Given the description of an element on the screen output the (x, y) to click on. 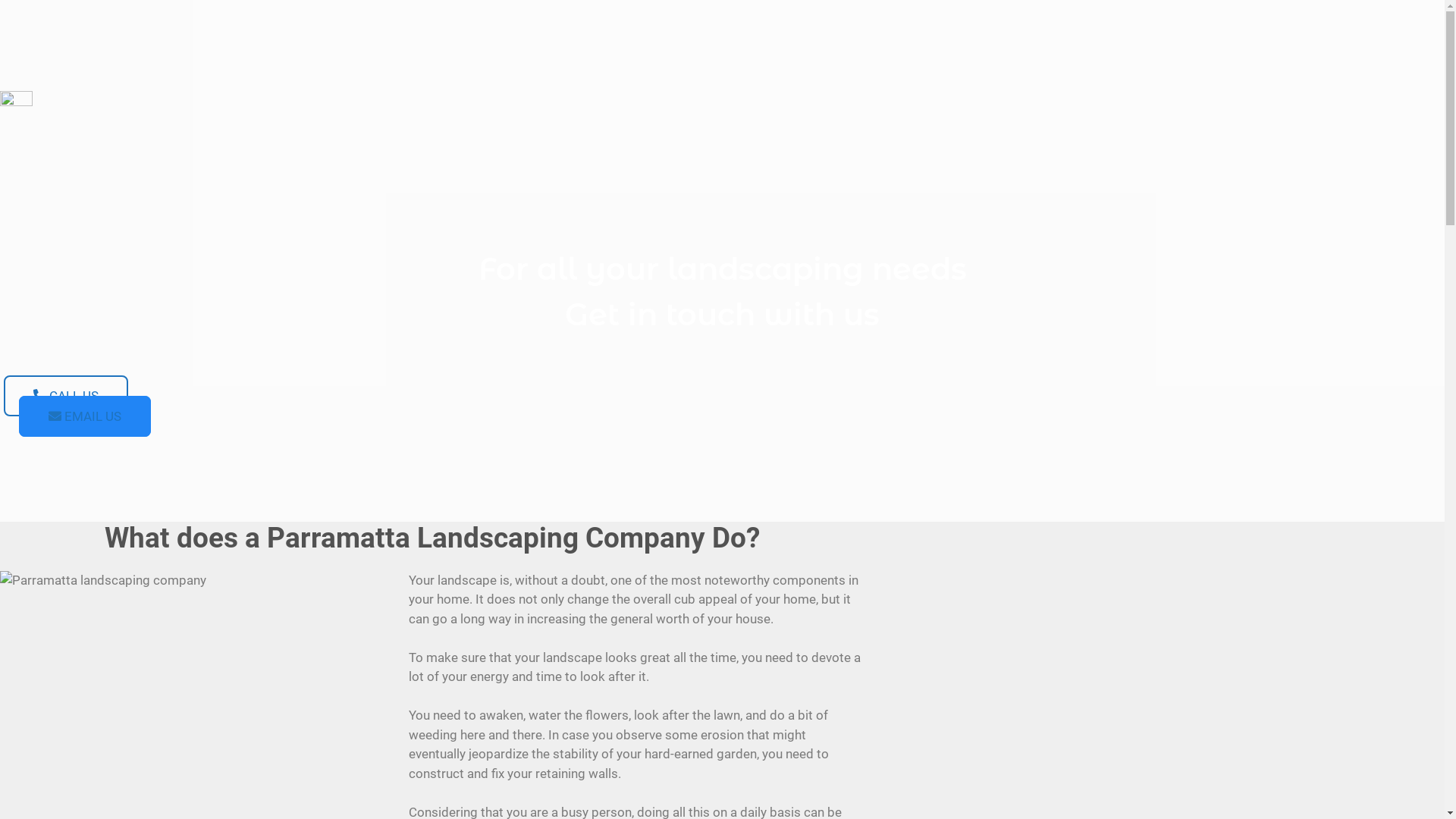
CALL US Element type: text (65, 395)
EMAIL US Element type: text (84, 415)
